Given the description of an element on the screen output the (x, y) to click on. 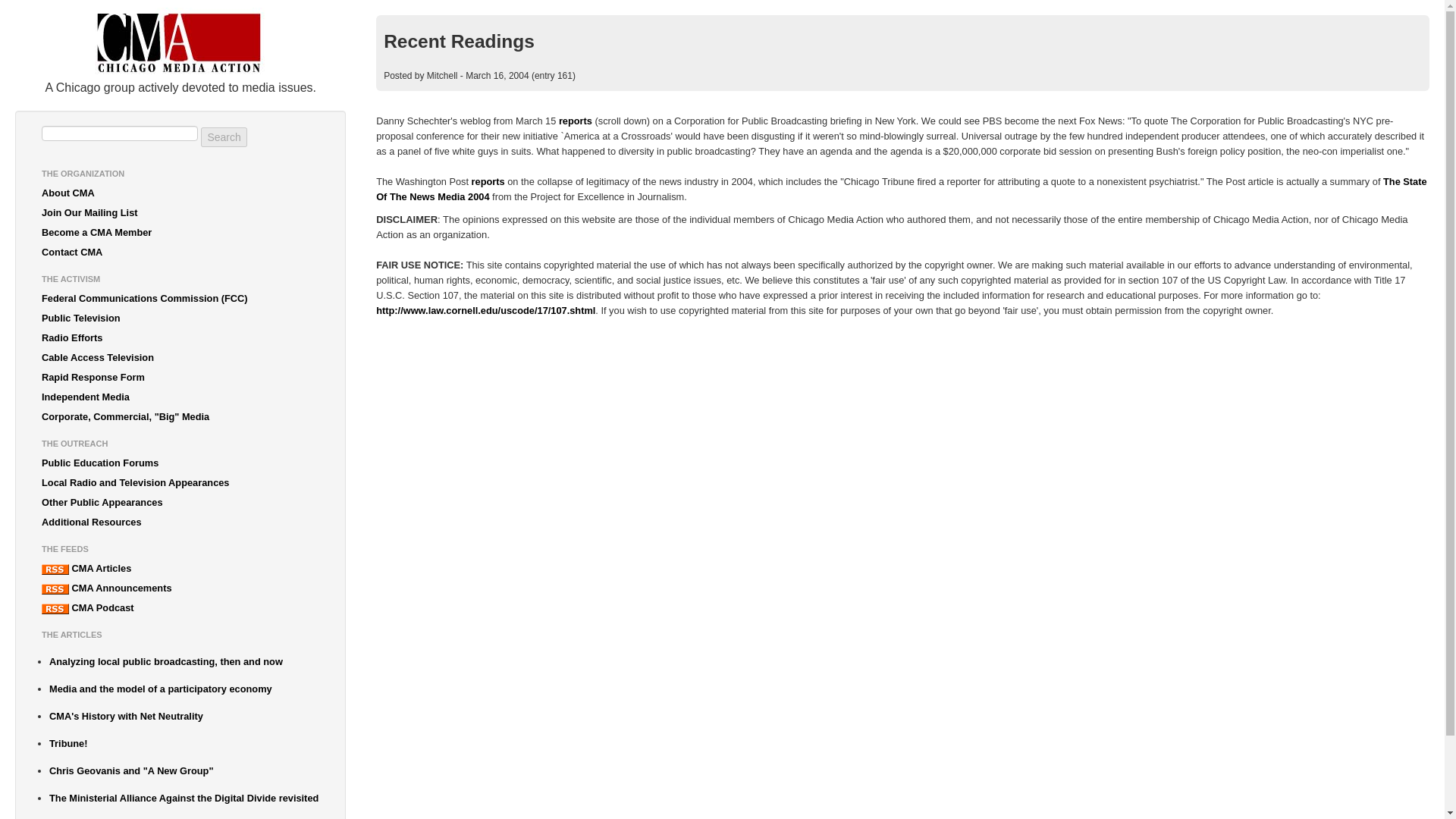
Additional Resources (180, 522)
reports (575, 120)
Independent Media (180, 397)
Media and the model of a participatory economy (183, 689)
Public Television (180, 318)
reports (488, 181)
About CMA (180, 193)
CMA Podcast (180, 608)
Join Our Mailing List (180, 212)
Corporate, Commercial, "Big" Media (180, 416)
The State Of The News Media 2004 (900, 189)
Search (223, 137)
Other Public Appearances (180, 502)
